Given the description of an element on the screen output the (x, y) to click on. 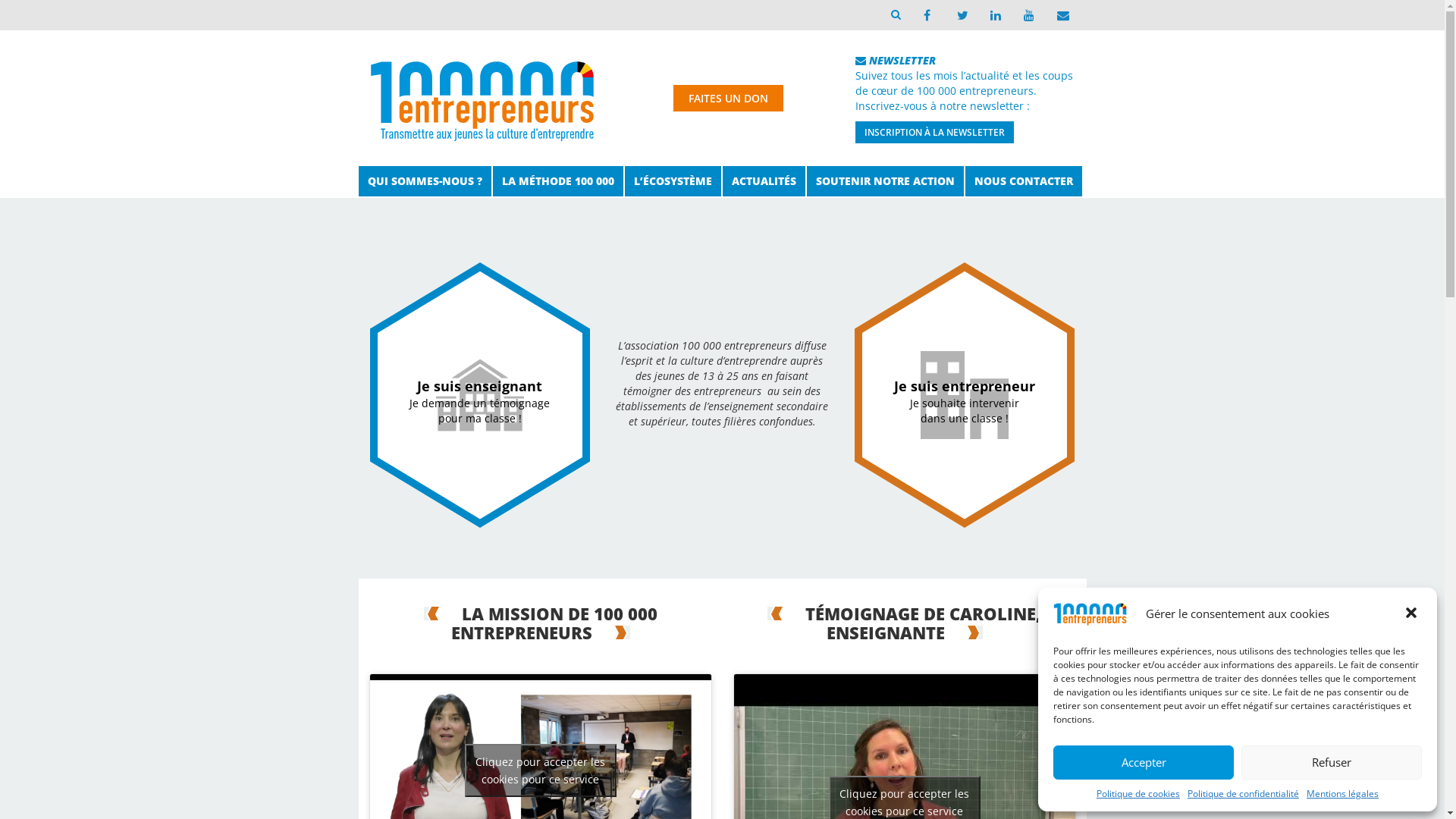
Bouton de recherche - 100 000 entrepreneurs Element type: hover (895, 13)
Twitter Element type: text (959, 15)
Retourner sur la page d'acceuil Element type: hover (482, 95)
Cliquez pour accepter les cookies pour ce service Element type: text (539, 770)
YouTube Element type: text (1026, 15)
Refuser Element type: text (1331, 762)
FAITES UN DON Element type: text (728, 97)
Mail Element type: text (1059, 15)
Politique de cookies Element type: text (1137, 793)
QUI SOMMES-NOUS ? Element type: text (423, 181)
LinkedIn Element type: text (993, 15)
SOUTENIR NOTRE ACTION Element type: text (884, 181)
NOUS CONTACTER Element type: text (1022, 181)
Facebook Element type: text (926, 15)
Accepter Element type: text (1143, 762)
